Given the description of an element on the screen output the (x, y) to click on. 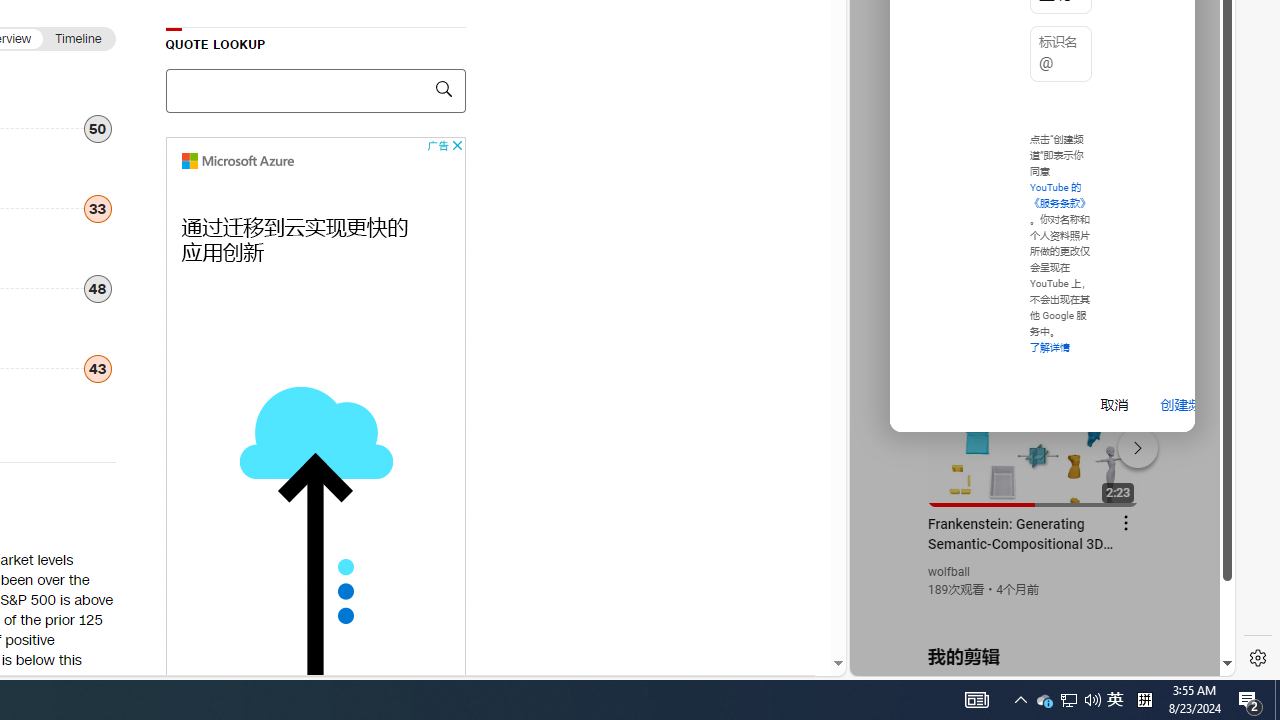
wolfball (949, 572)
#you (1034, 439)
YouTube - YouTube (1034, 266)
Class: dict_pnIcon rms_img (1028, 660)
Click to scroll right (1196, 83)
